Given the description of an element on the screen output the (x, y) to click on. 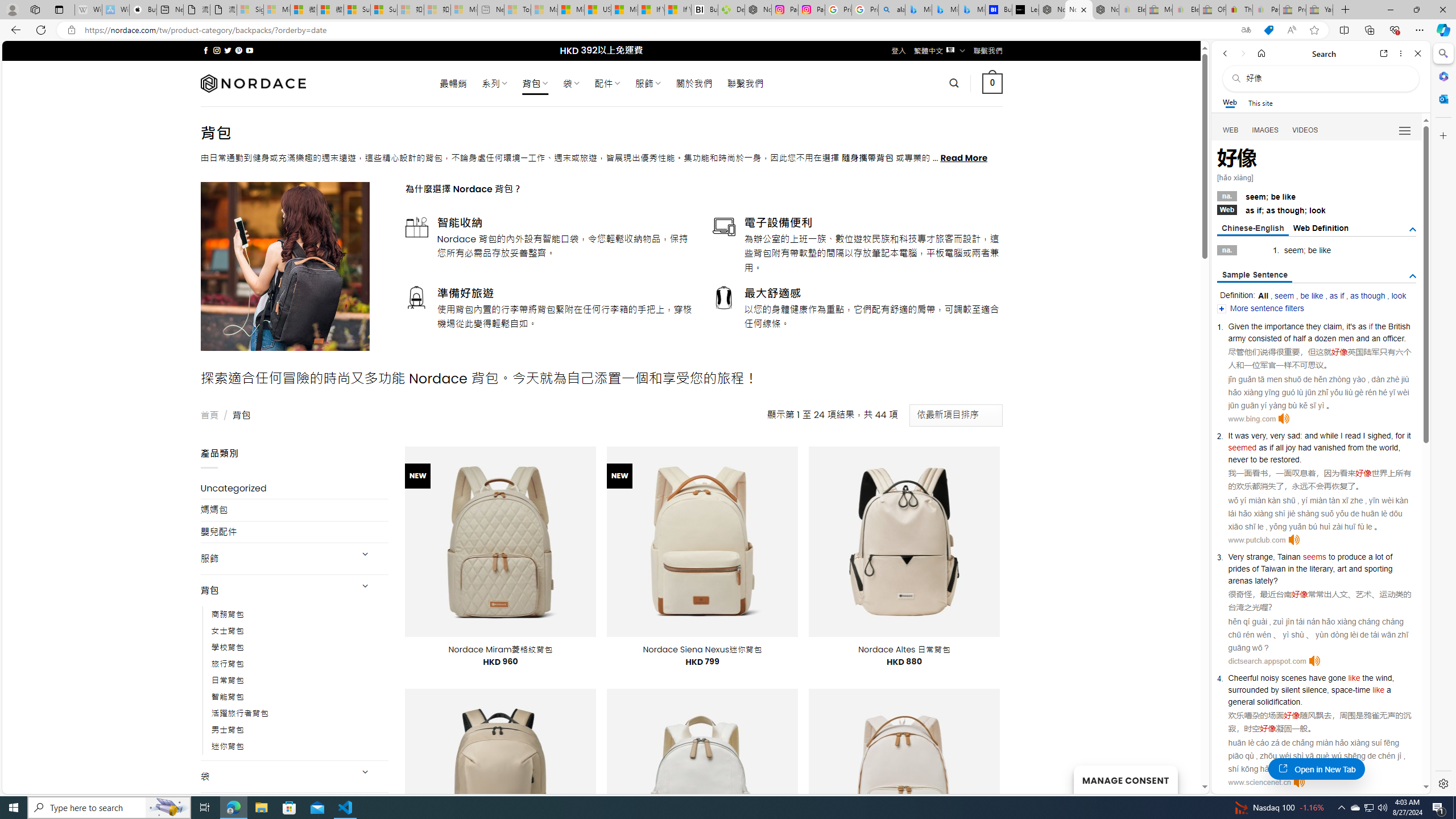
general (1241, 700)
army (1236, 338)
Forward (1242, 53)
Press Room - eBay Inc. - Sleeping (1292, 9)
Descarga Driver Updater (731, 9)
read (1352, 435)
Threats and offensive language policy | eBay (1239, 9)
it (1348, 325)
Microsoft Bing Travel - Flights from Hong Kong to Bangkok (917, 9)
Sign in to your Microsoft account - Sleeping (249, 9)
